Given the description of an element on the screen output the (x, y) to click on. 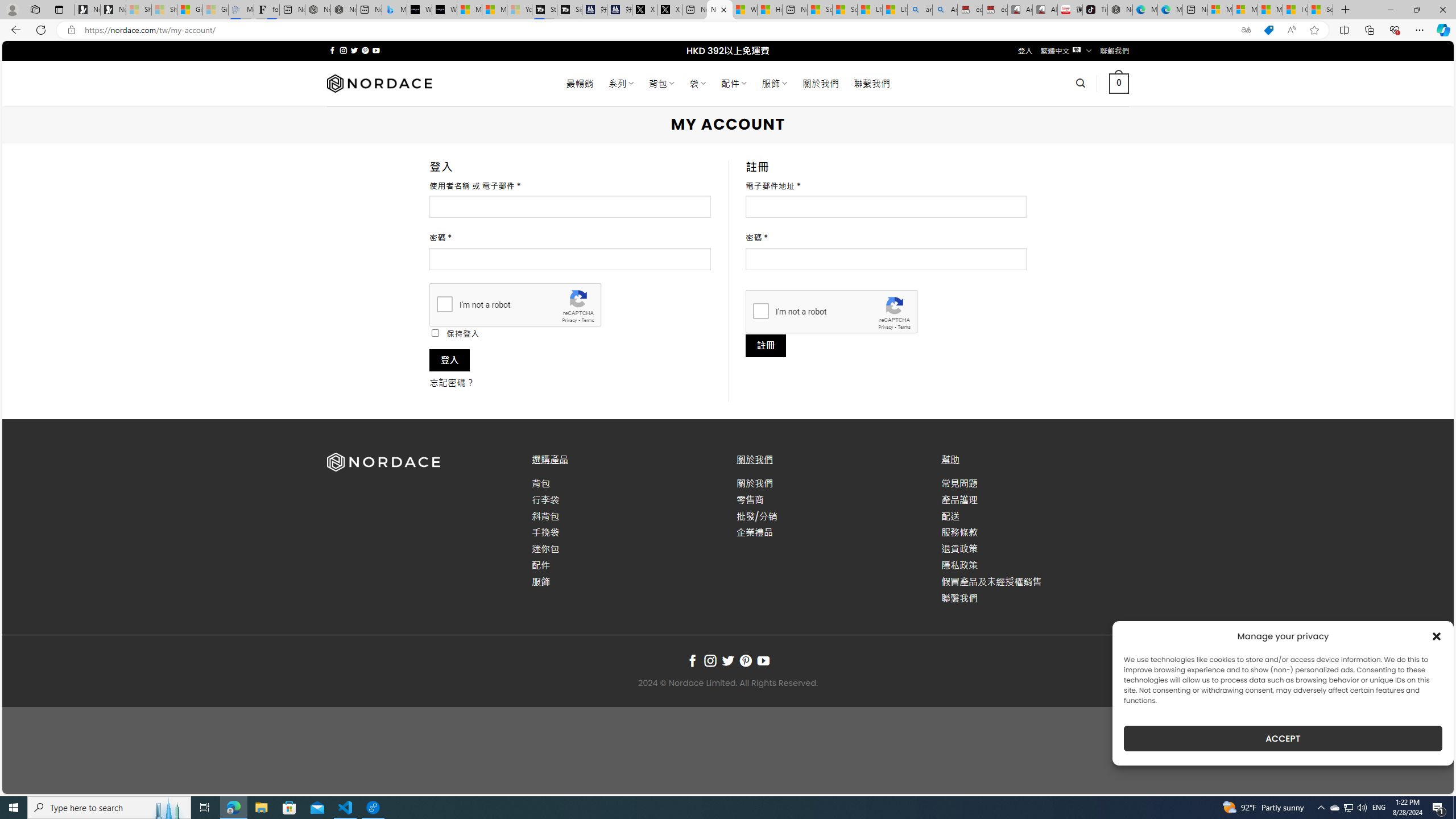
Streaming Coverage | T3 (544, 9)
Nordace - Best Sellers (1119, 9)
